Given the description of an element on the screen output the (x, y) to click on. 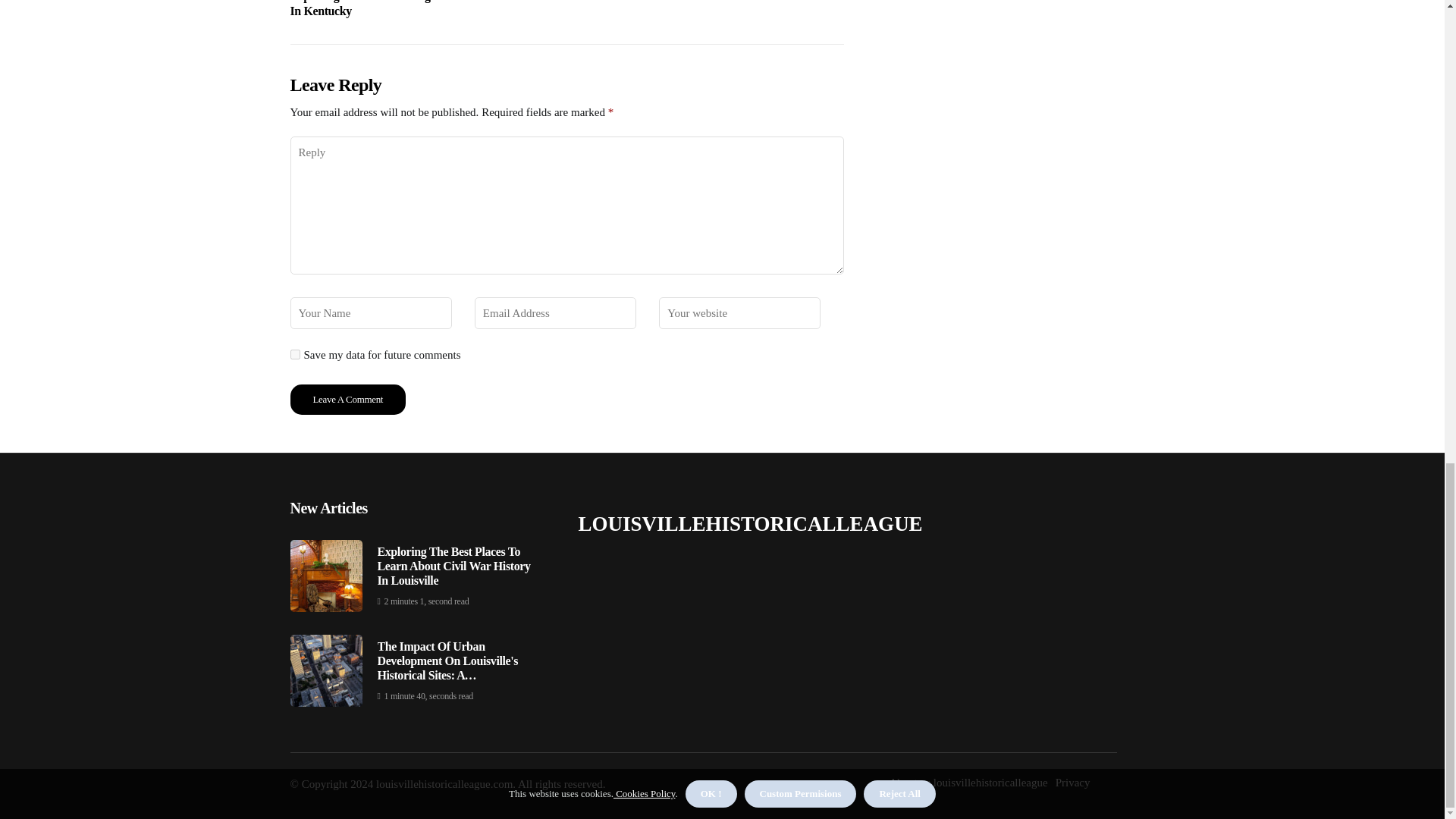
yes (294, 354)
Leave a Comment (347, 399)
Leave a Comment (347, 399)
